Given the description of an element on the screen output the (x, y) to click on. 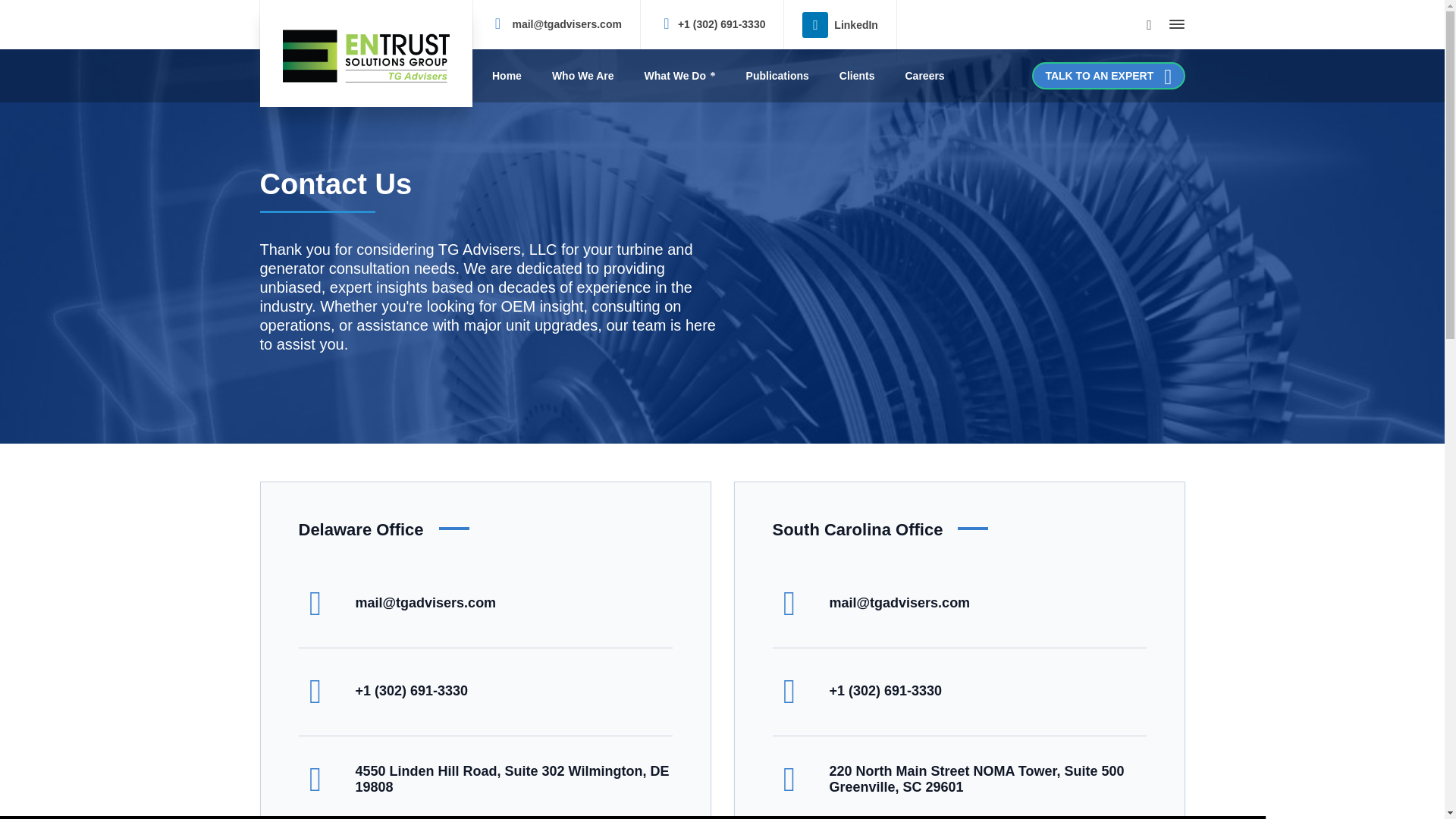
Careers (924, 75)
Publications (777, 75)
Who We Are (582, 75)
TALK TO AN EXPERT (1108, 75)
Clients (856, 75)
LinkedIn (839, 23)
What We Do (679, 75)
TG Advisers, LLC. (365, 53)
Talk to an Expert (1108, 75)
LinkedIn (839, 23)
